Given the description of an element on the screen output the (x, y) to click on. 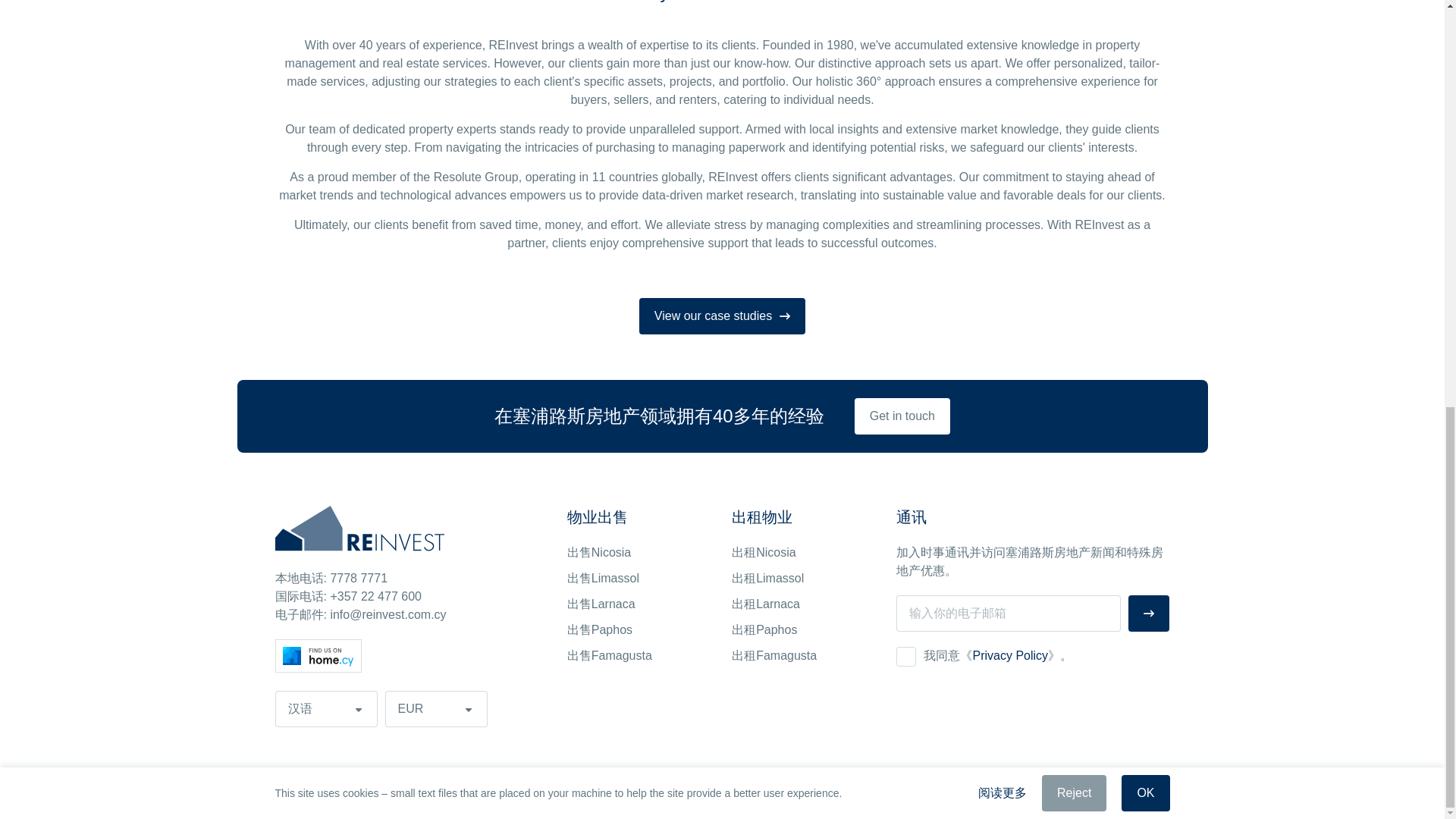
 EUR (436, 709)
